Given the description of an element on the screen output the (x, y) to click on. 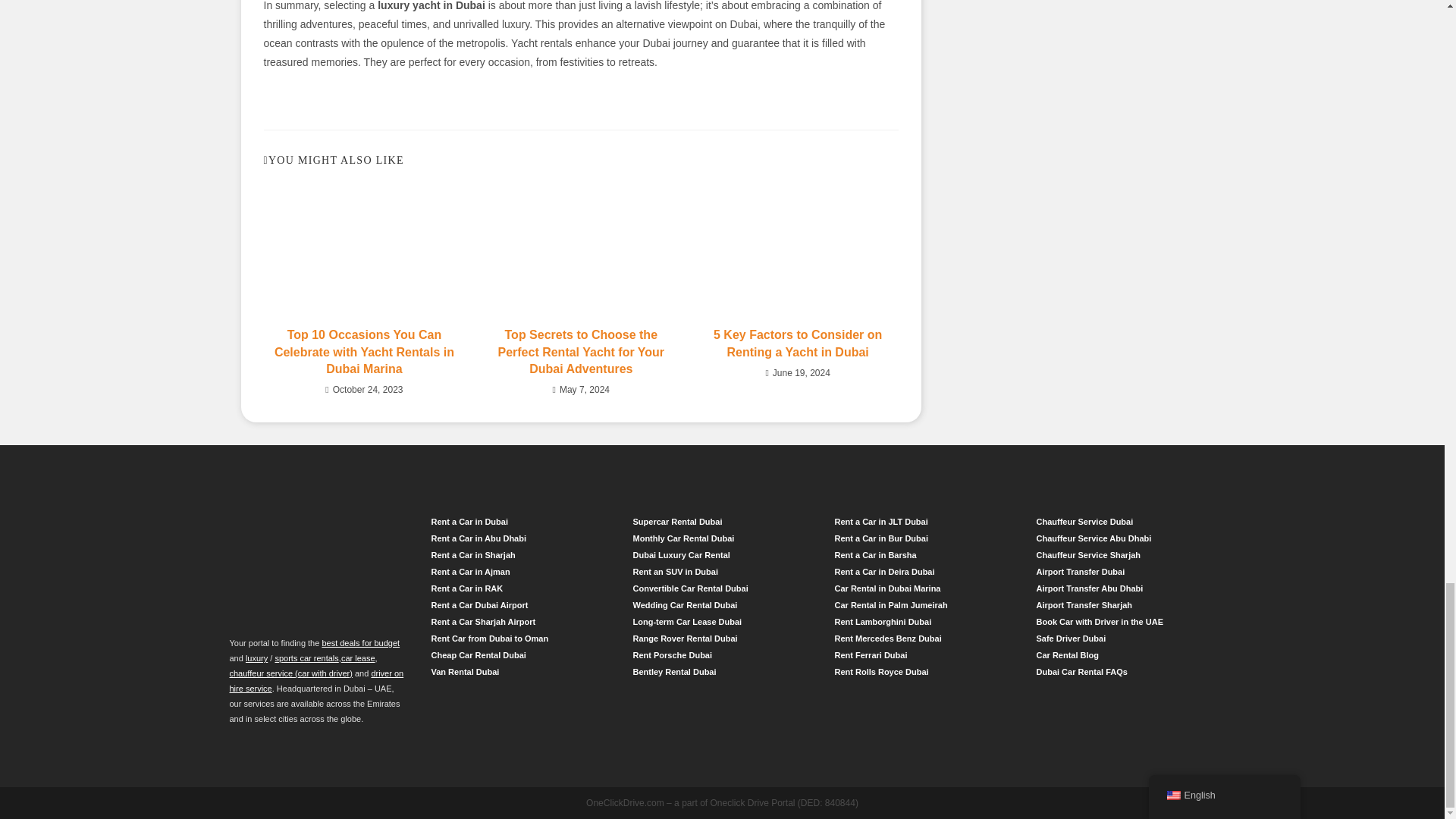
5 Key Factors to Consider on Renting a Yacht in Dubai (797, 343)
